Given the description of an element on the screen output the (x, y) to click on. 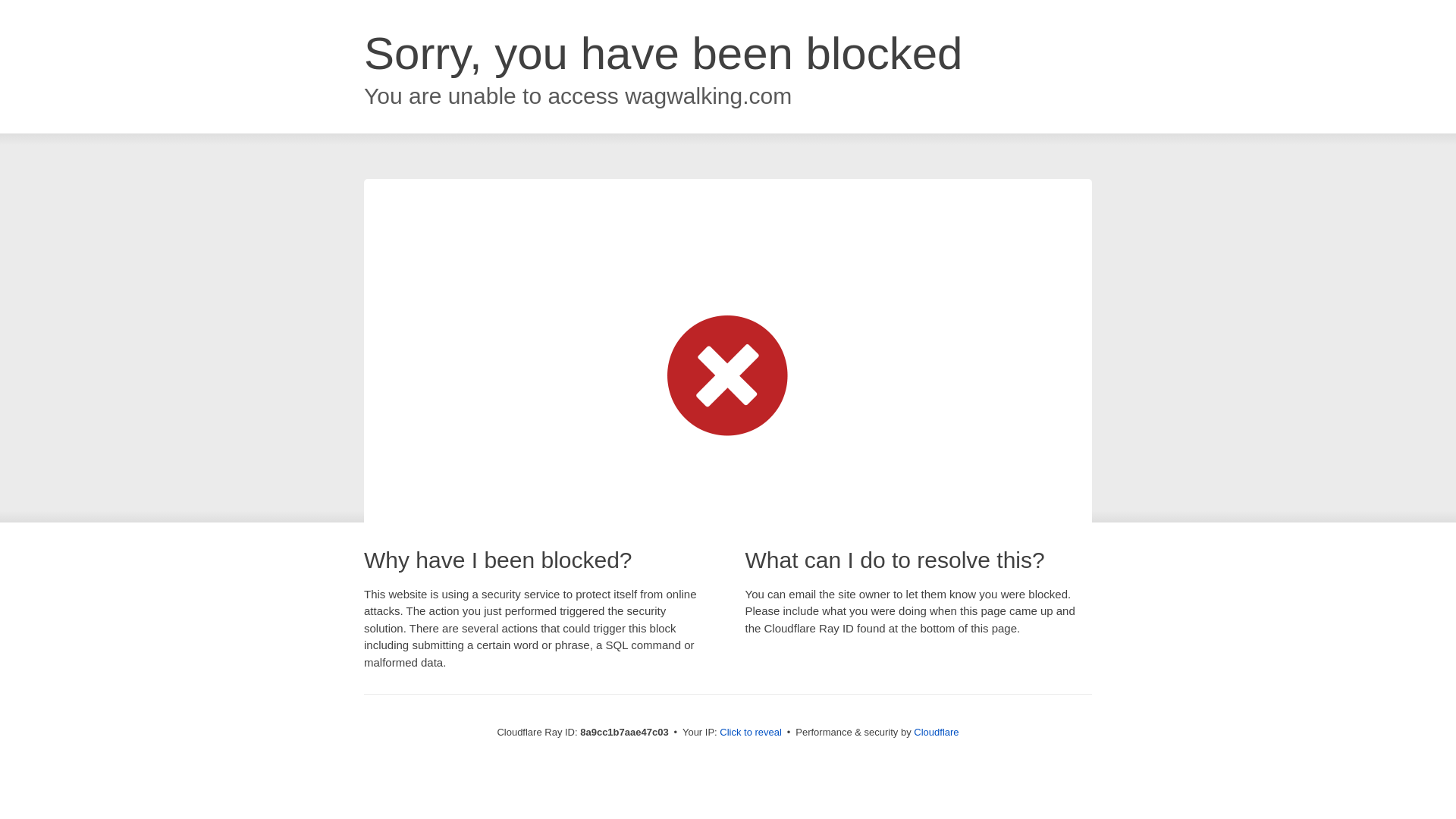
Click to reveal (750, 732)
Cloudflare (936, 731)
